Given the description of an element on the screen output the (x, y) to click on. 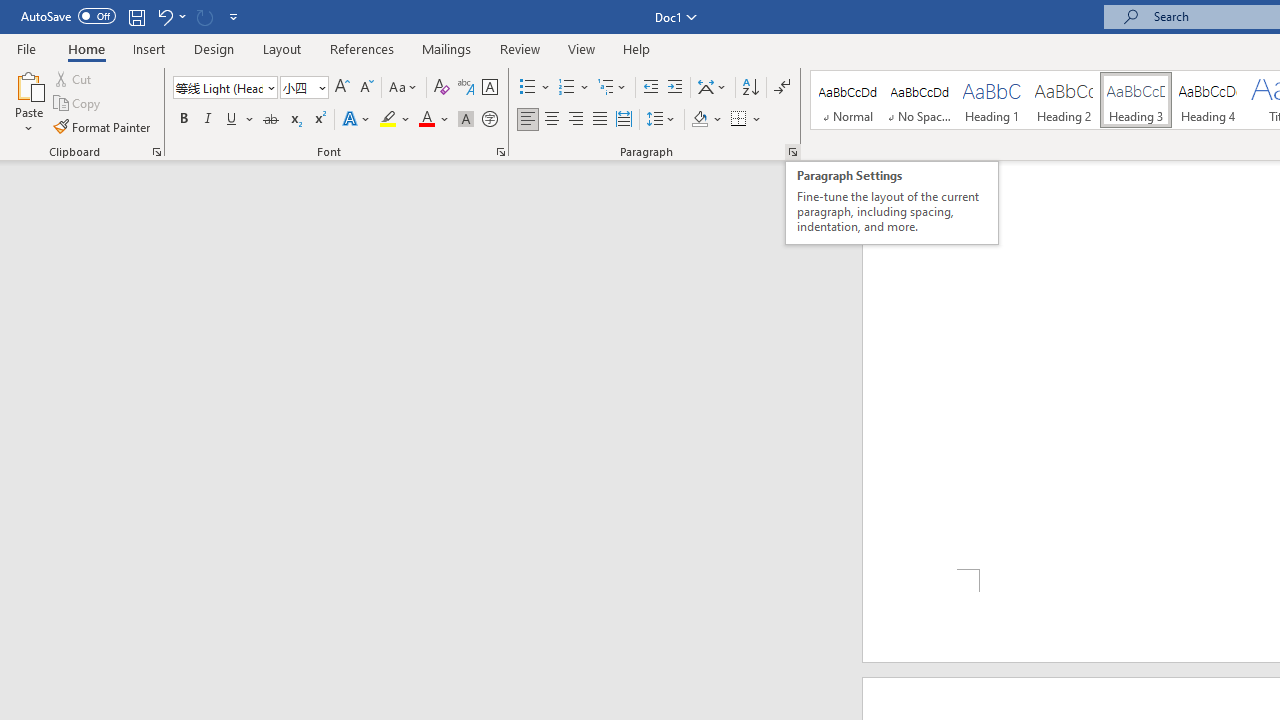
Font Color Blue-Gray, Text 2 (426, 119)
Character Border (489, 87)
Text Highlight Color Yellow (388, 119)
Bold (183, 119)
Italic (207, 119)
Justify (599, 119)
Undo Apply Quick Style (164, 15)
Center (552, 119)
Copy (78, 103)
Increase Indent (675, 87)
